Given the description of an element on the screen output the (x, y) to click on. 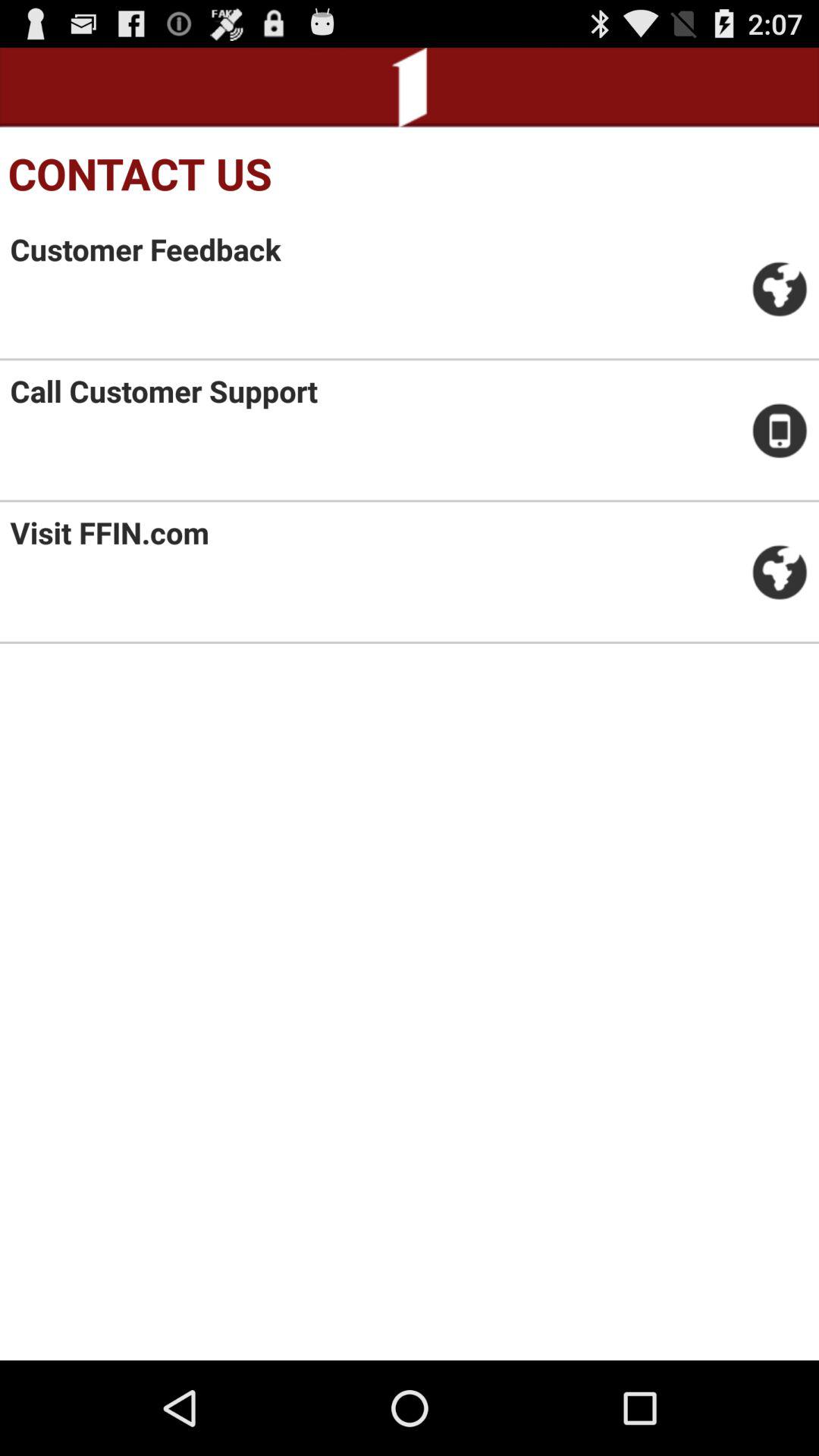
turn off icon below the call customer support item (109, 532)
